Given the description of an element on the screen output the (x, y) to click on. 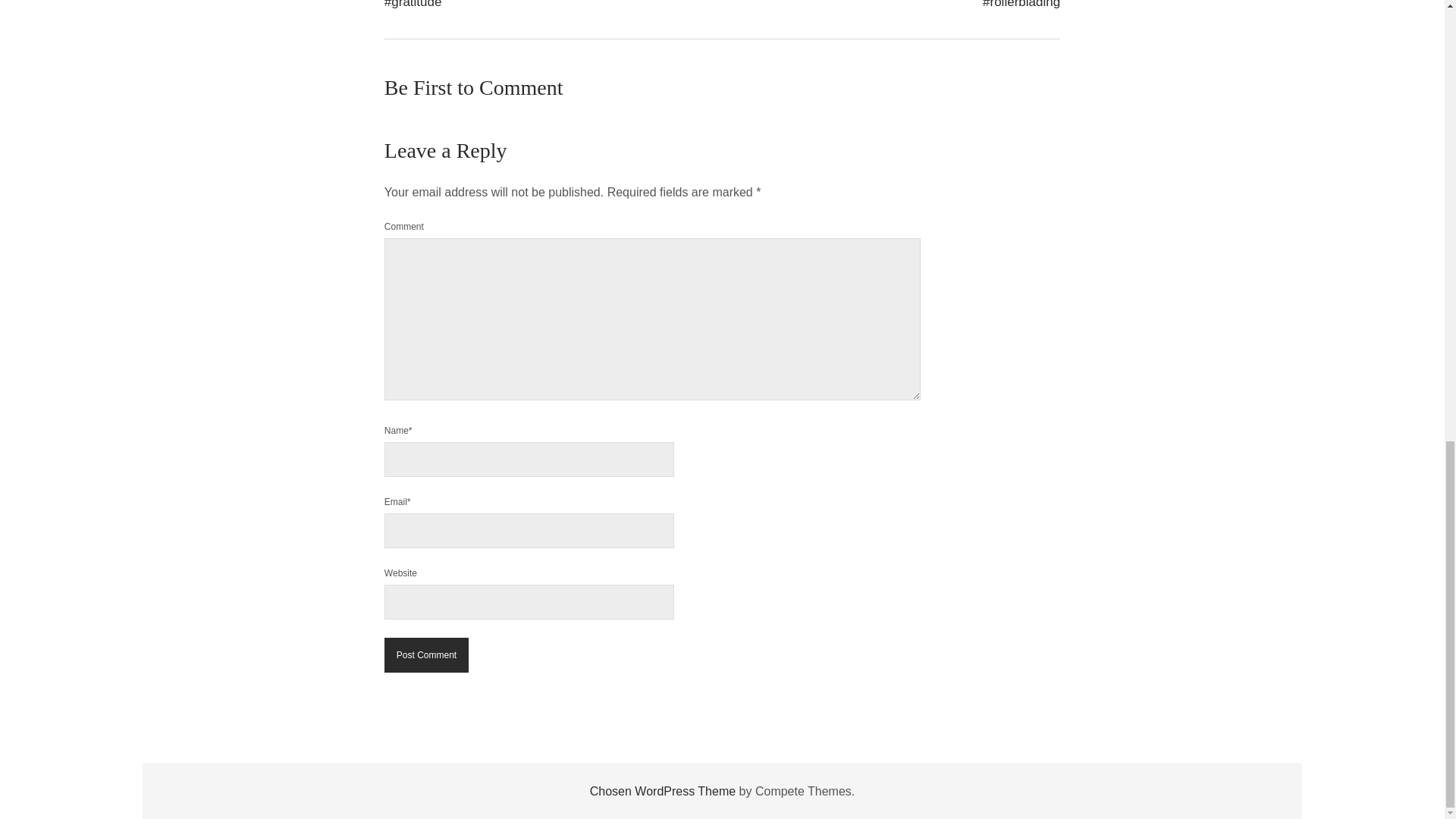
Post Comment (426, 655)
Post Comment (426, 655)
Chosen WordPress Theme (662, 790)
